Given the description of an element on the screen output the (x, y) to click on. 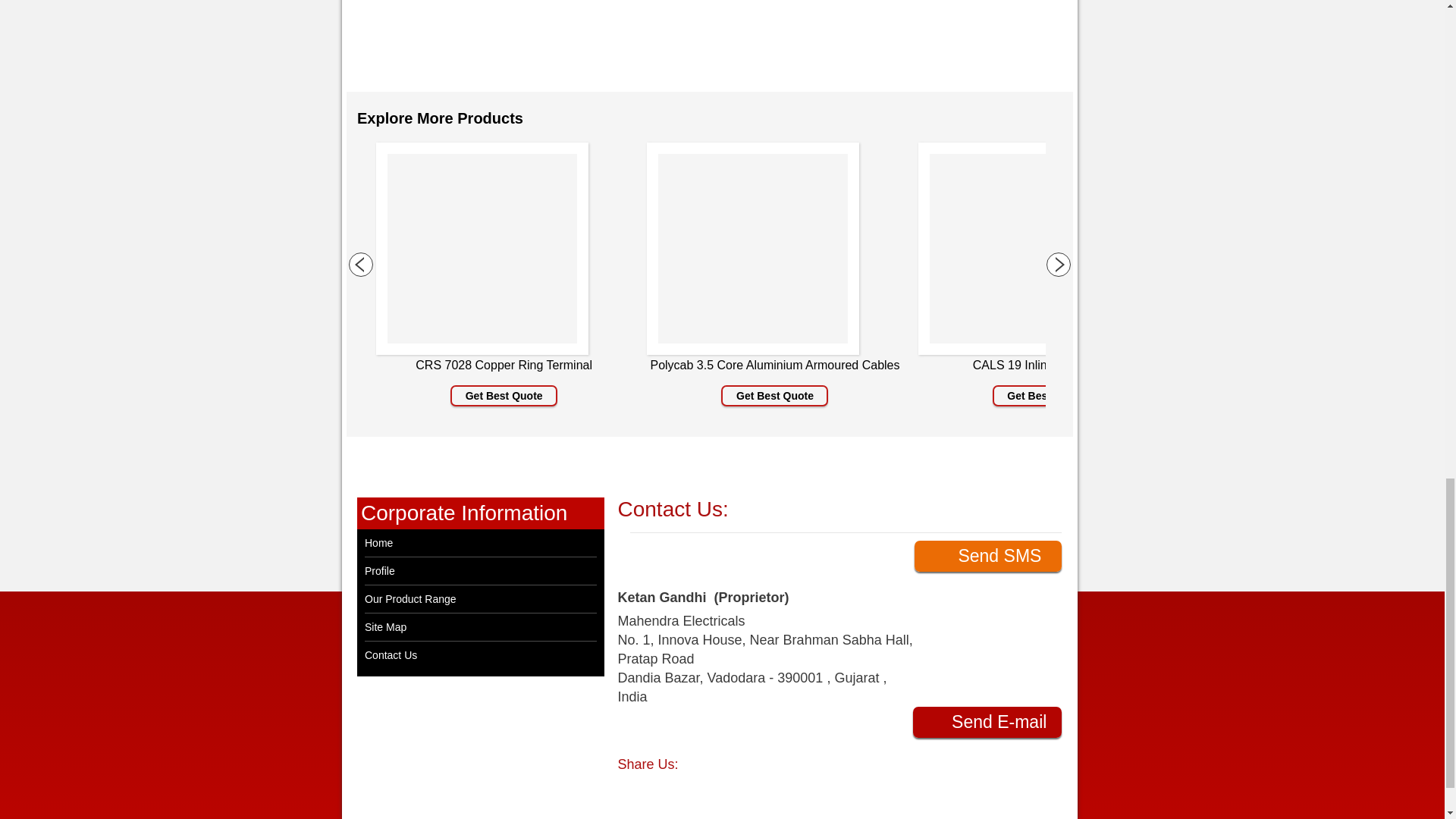
Send SMS Free (987, 555)
